Given the description of an element on the screen output the (x, y) to click on. 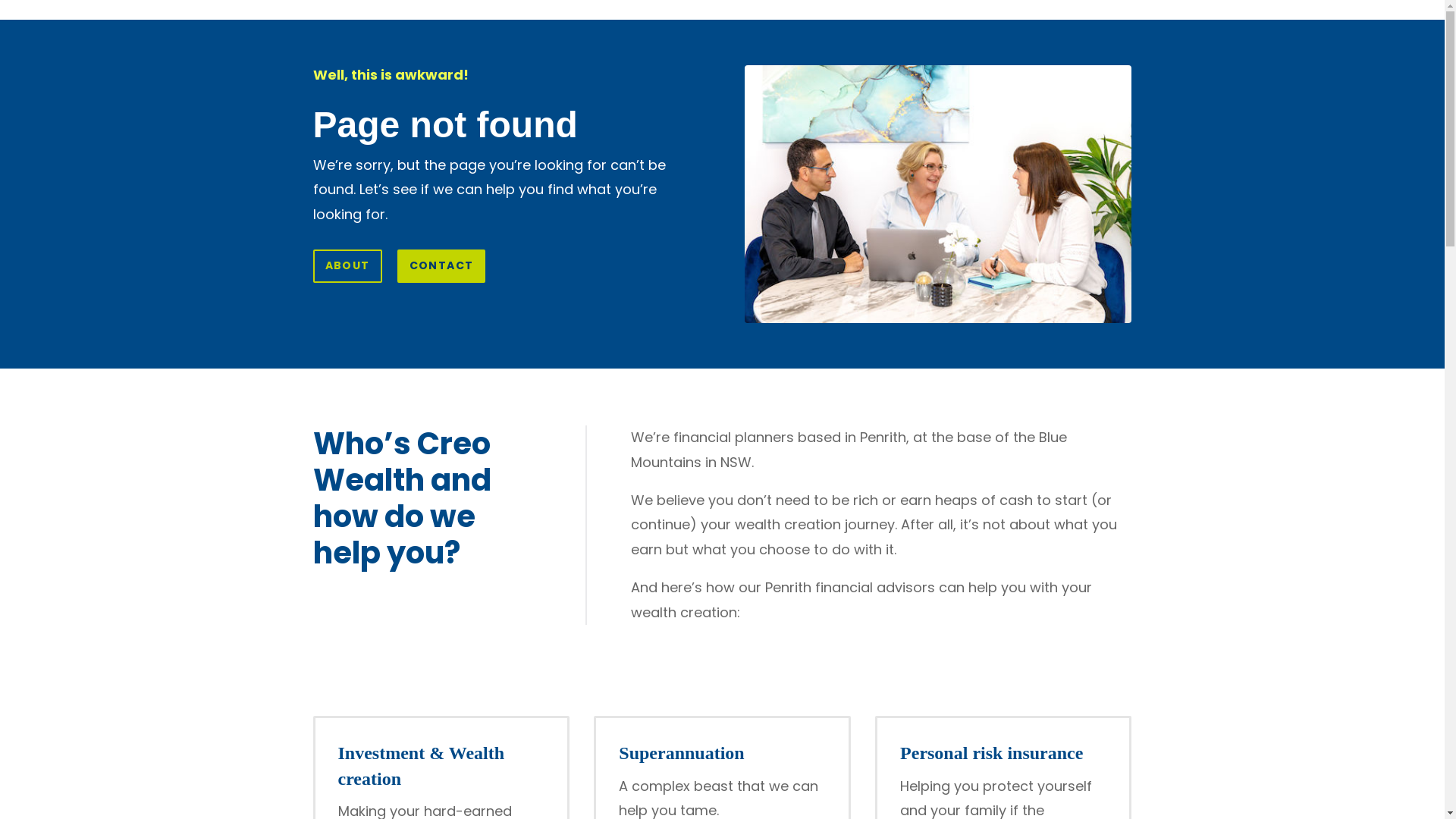
Page not found Creo Wealth Penrith Element type: hover (937, 194)
ABOUT Element type: text (346, 265)
CONTACT Element type: text (441, 265)
